Given the description of an element on the screen output the (x, y) to click on. 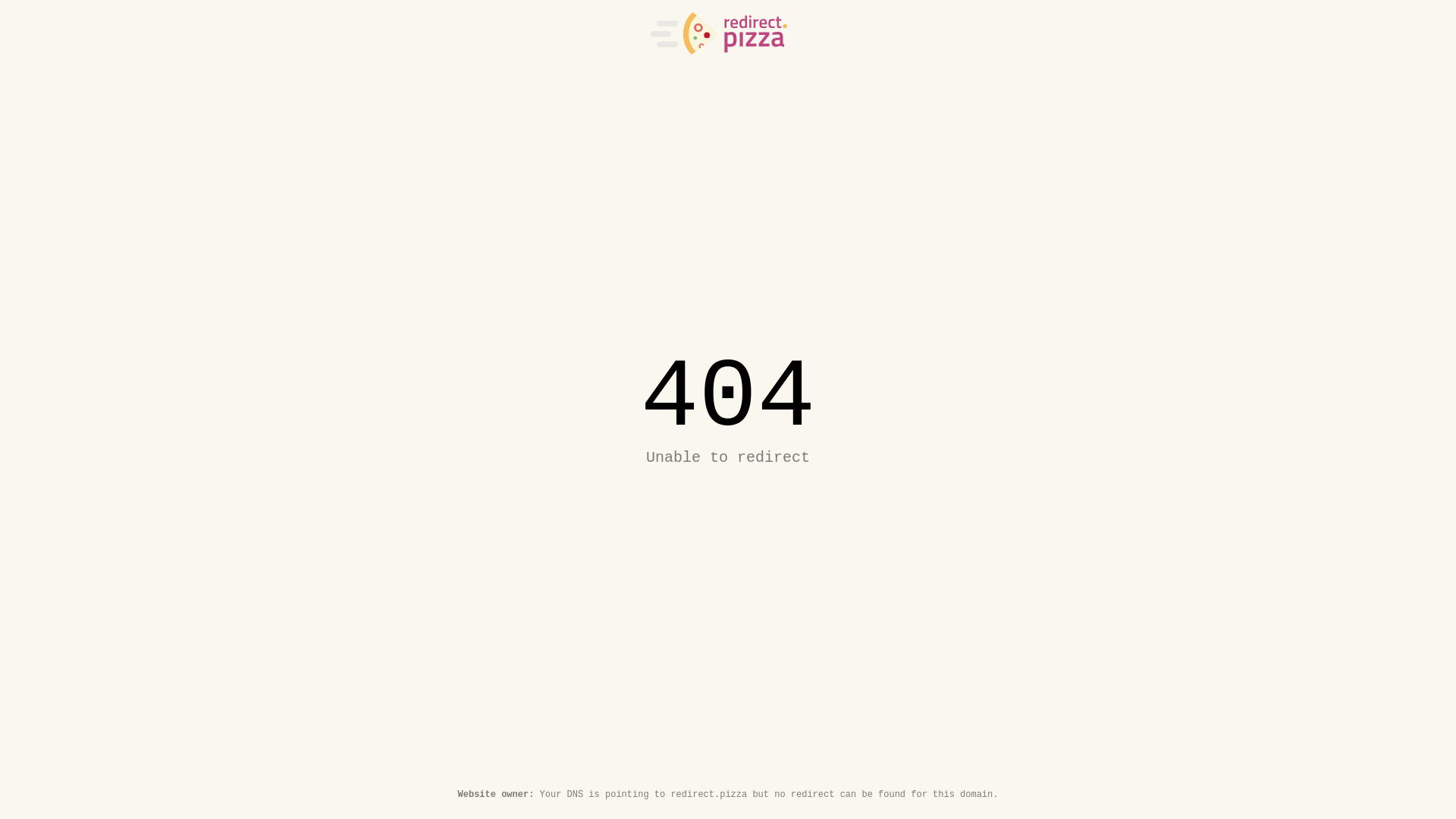
redirect.pizza Element type: text (718, 33)
